Given the description of an element on the screen output the (x, y) to click on. 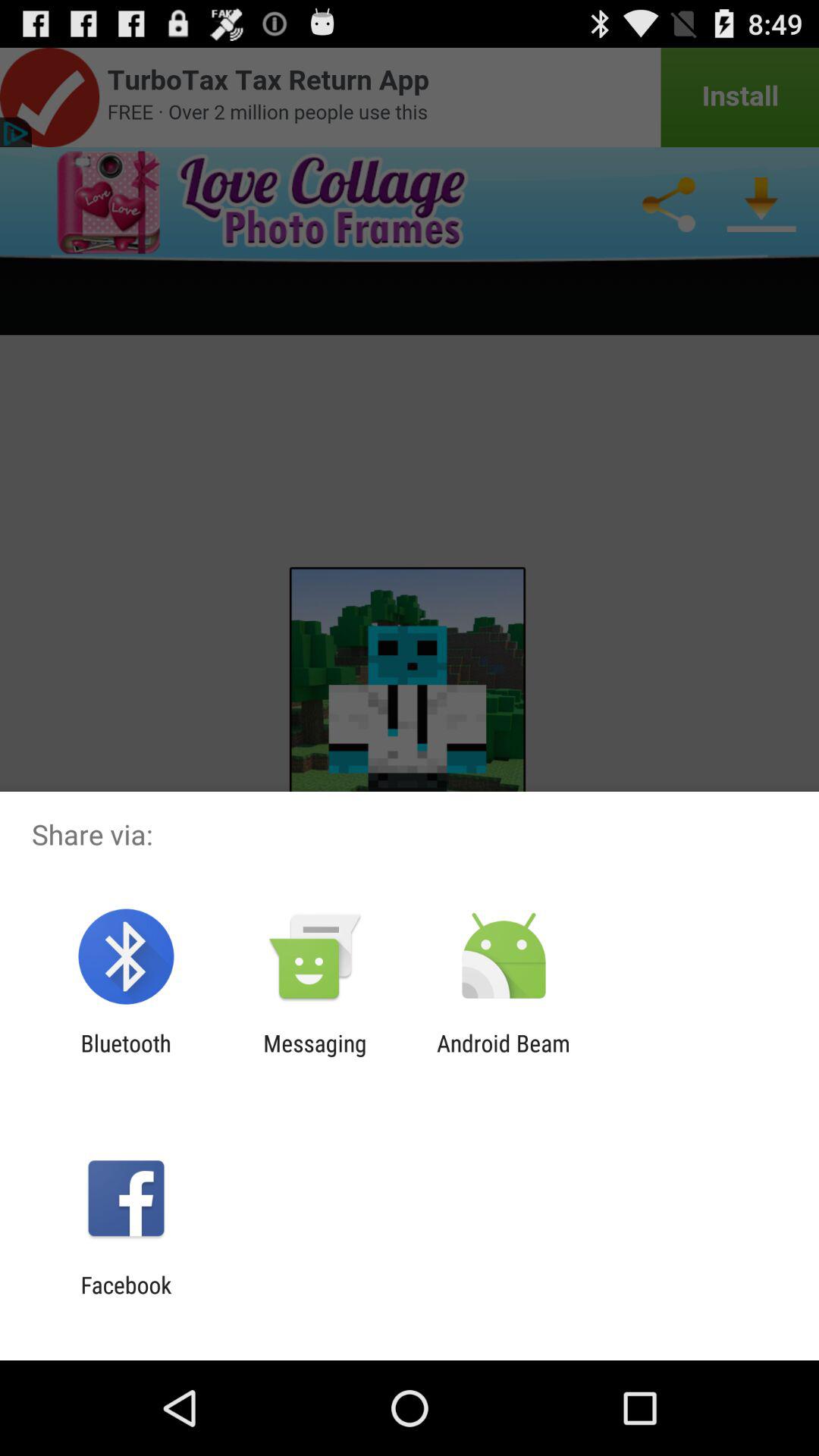
flip to the bluetooth app (125, 1056)
